Given the description of an element on the screen output the (x, y) to click on. 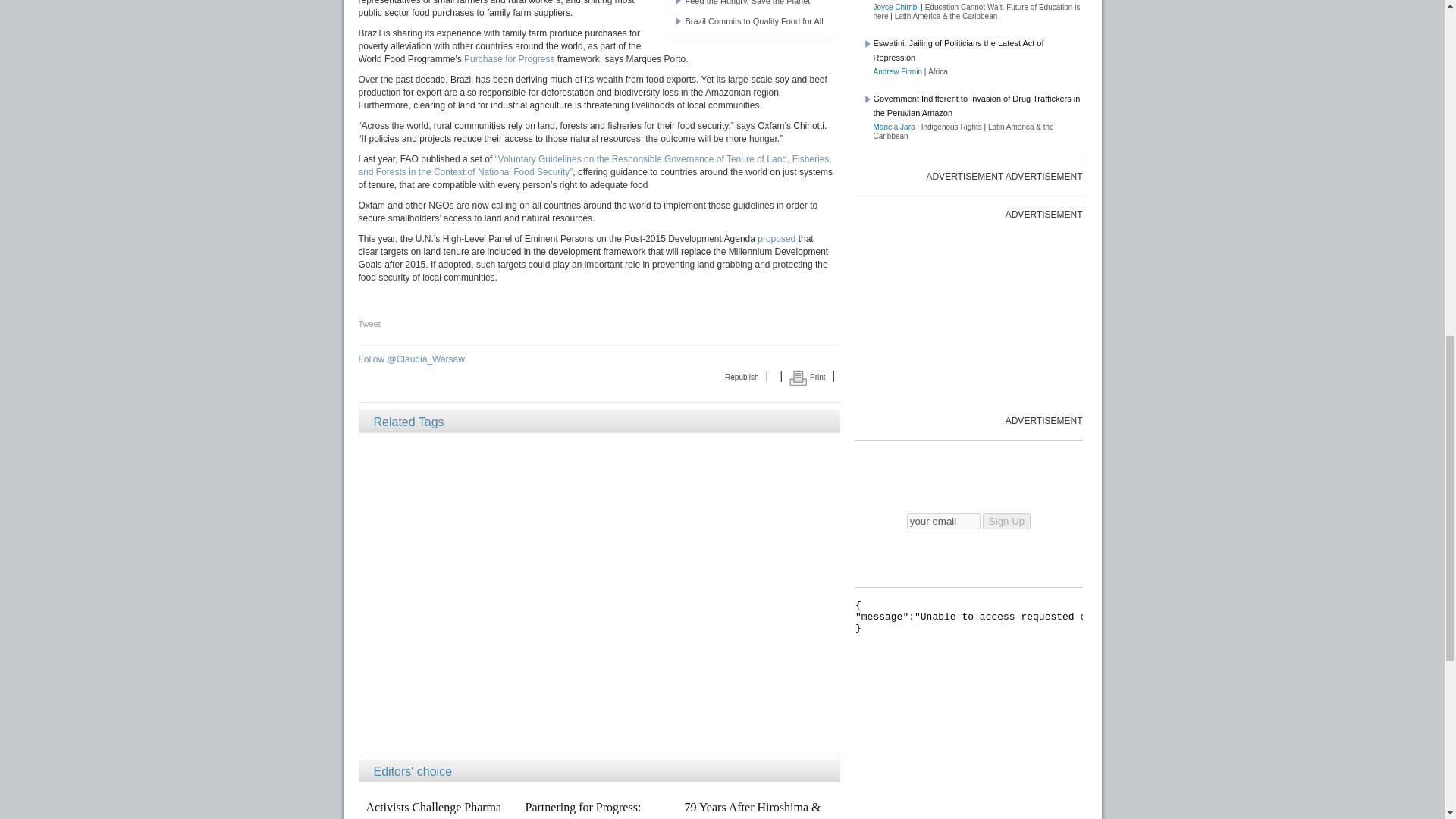
Posts by Joyce Chimbi (895, 7)
Posts by Andrew Firmin (897, 71)
Sign Up (1006, 521)
your email (943, 521)
Posts by Mariela Jara (894, 126)
